Given the description of an element on the screen output the (x, y) to click on. 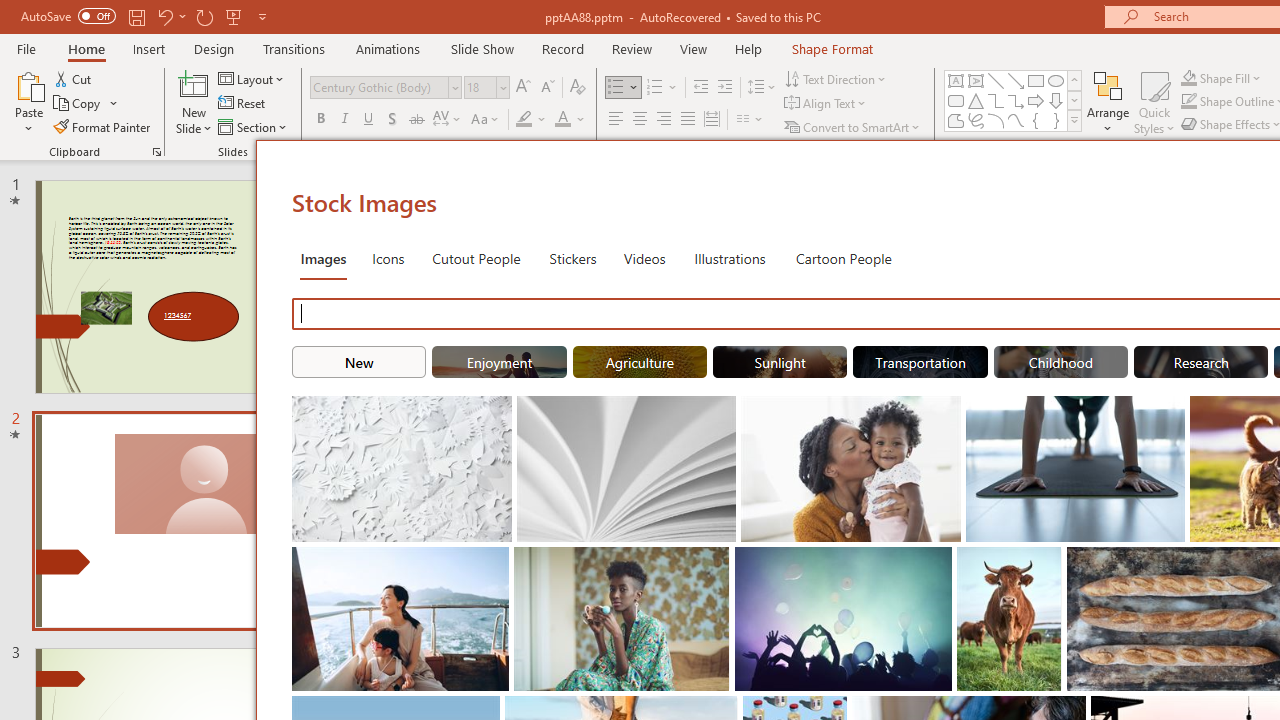
Images (322, 258)
Cutout People (477, 258)
Stickers (573, 258)
